Given the description of an element on the screen output the (x, y) to click on. 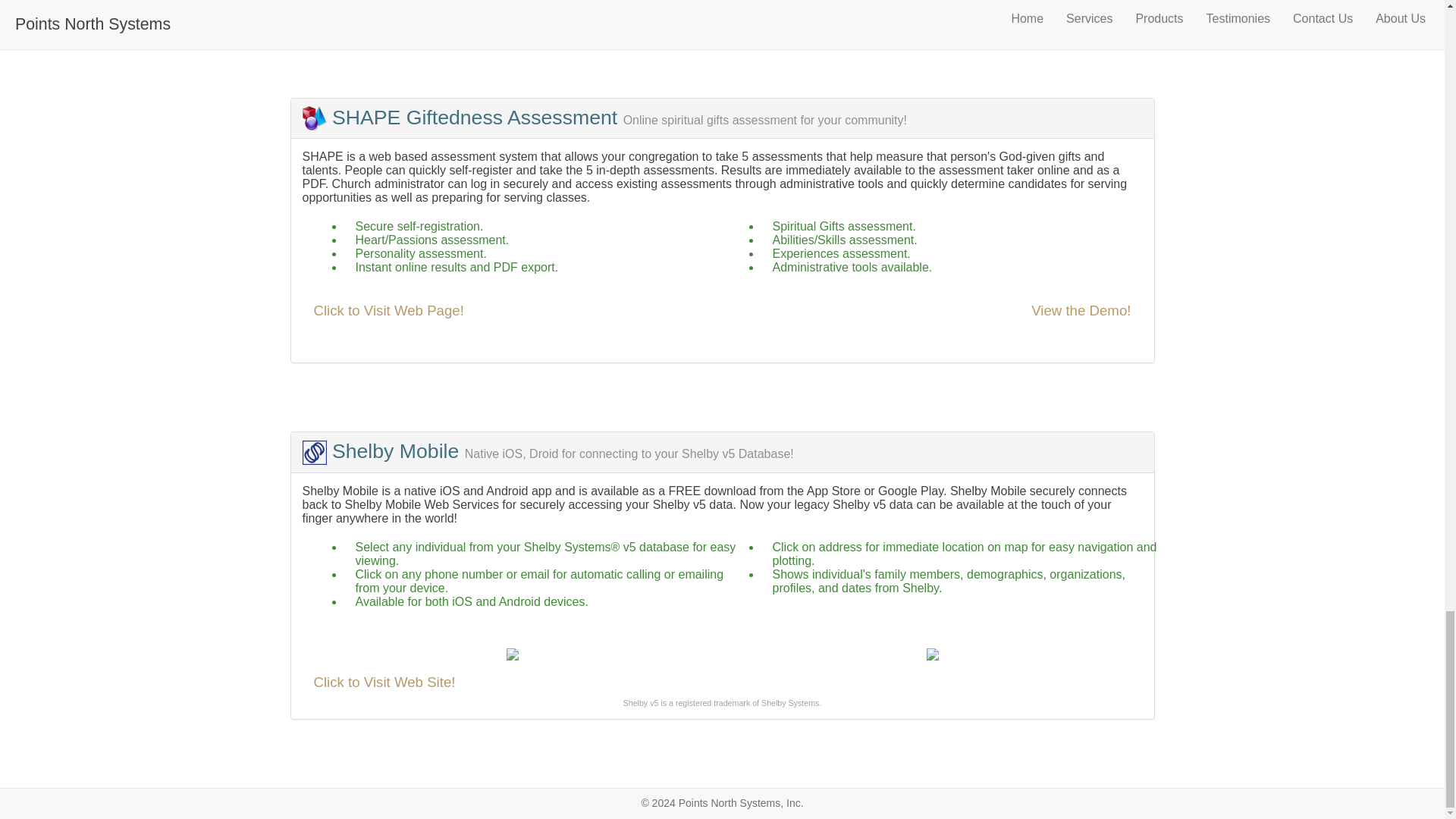
Click to Visit Web Page! (389, 310)
Click to Visit Web Site! (384, 682)
View the Demo! (1080, 310)
